Given the description of an element on the screen output the (x, y) to click on. 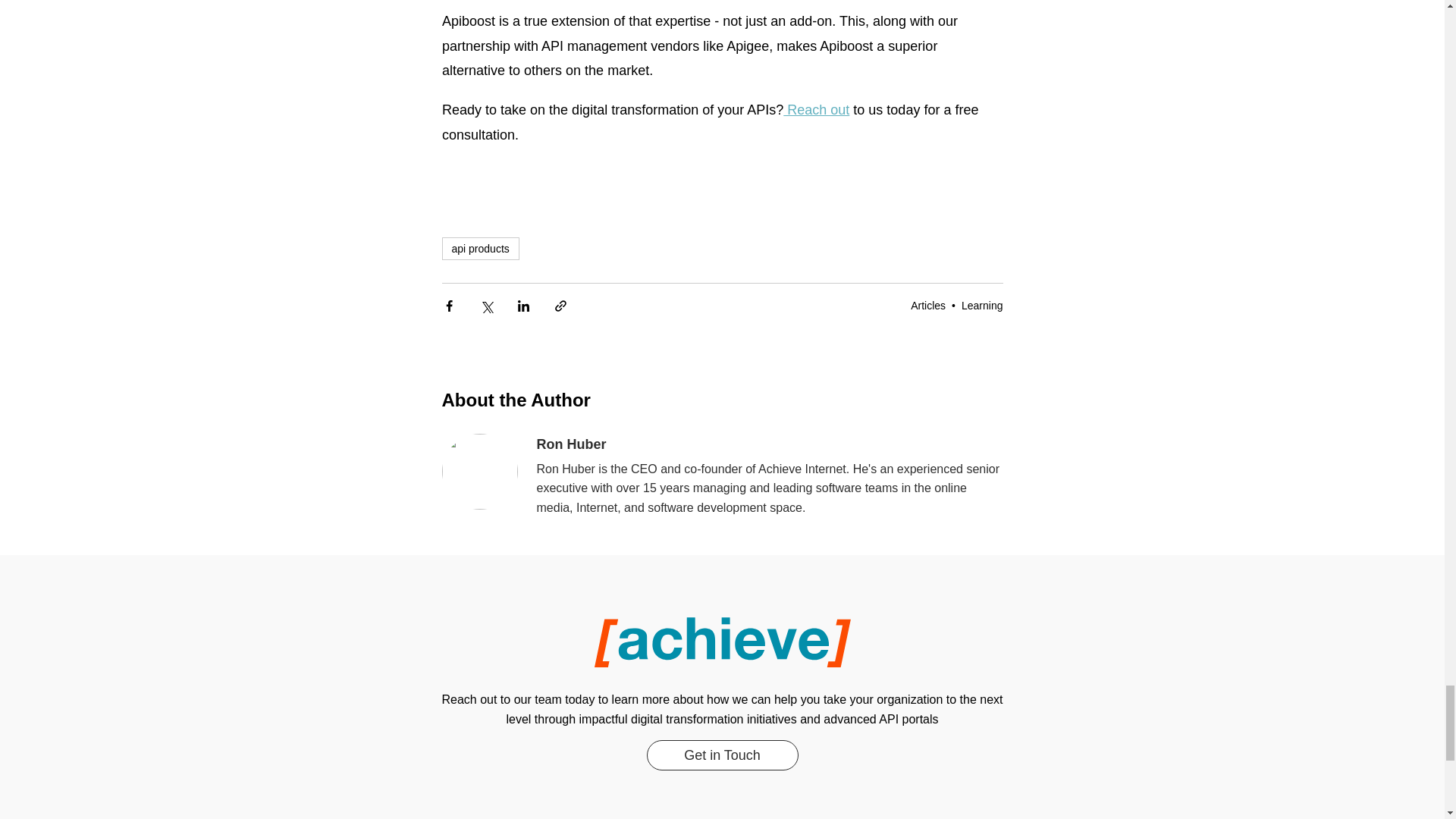
api products (479, 248)
 Reach out (815, 110)
Articles (927, 305)
Get in Touch (722, 754)
Learning (981, 305)
